Given the description of an element on the screen output the (x, y) to click on. 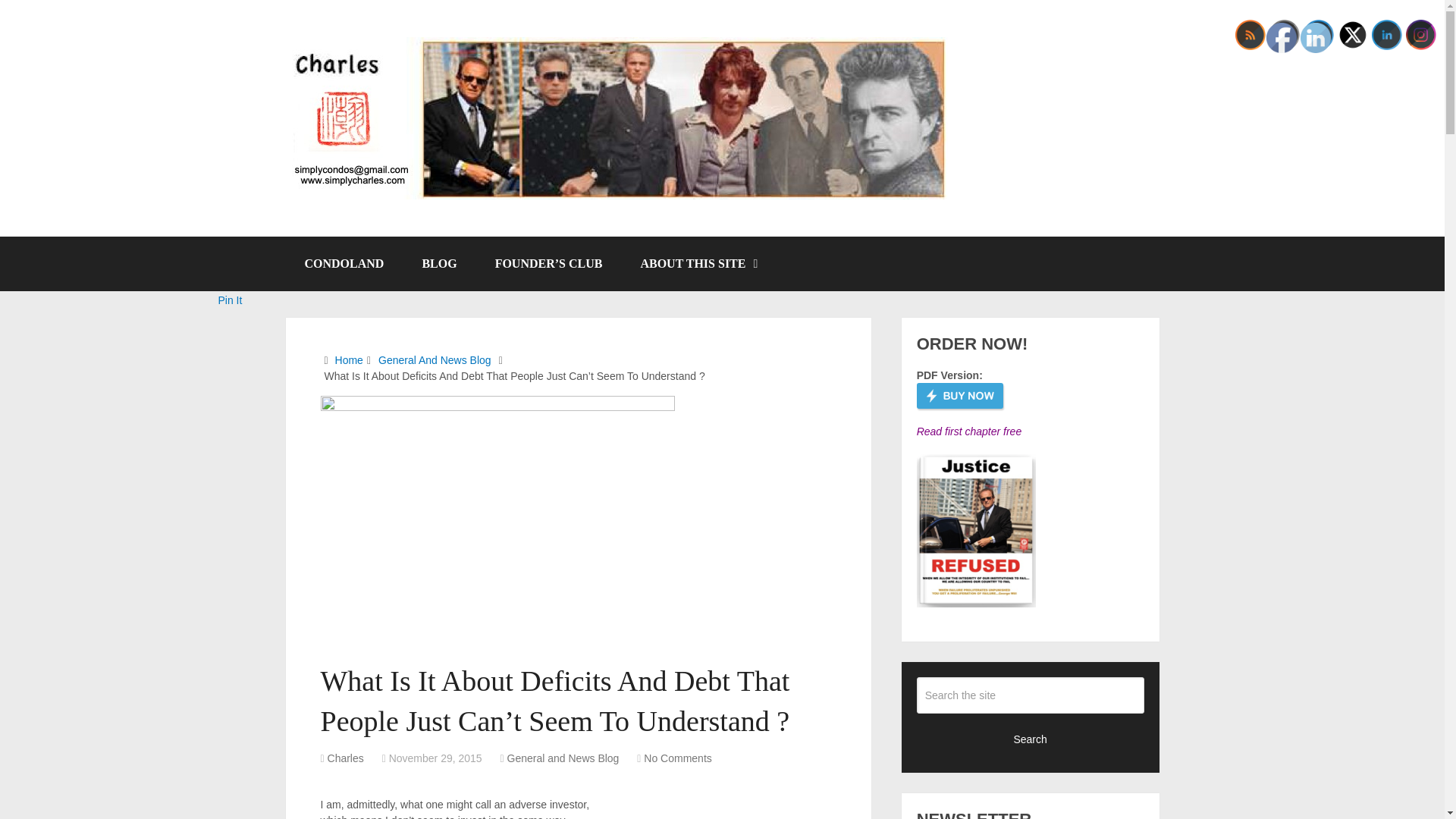
Search (1030, 739)
Tweet (232, 262)
Charles (345, 758)
CONDOLAND (344, 263)
General And News Blog (435, 359)
Read first chapter free (969, 431)
Pin It (230, 300)
Posts by Charles (345, 758)
BLOG (439, 263)
